Given the description of an element on the screen output the (x, y) to click on. 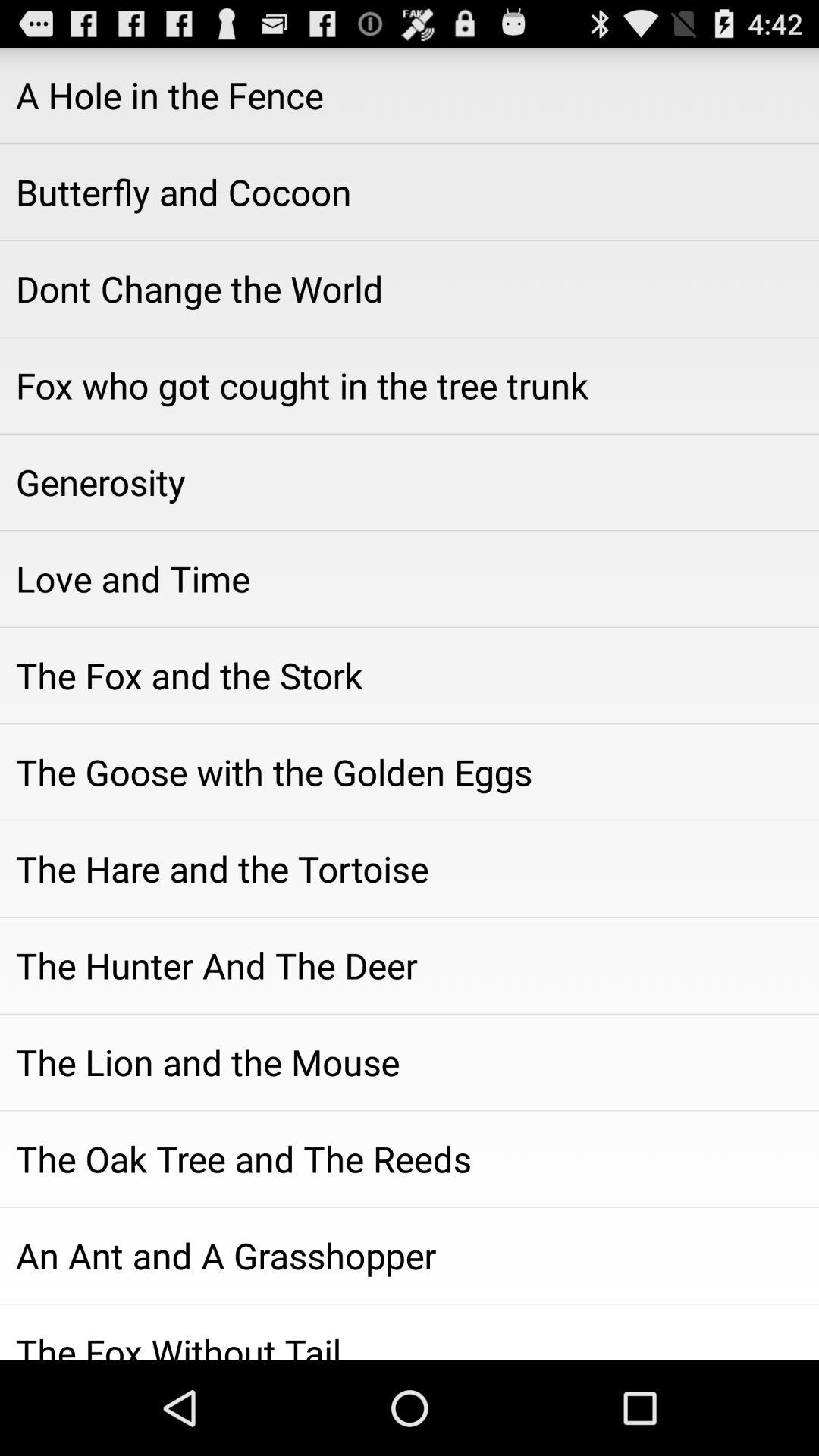
select generosity (409, 482)
